Given the description of an element on the screen output the (x, y) to click on. 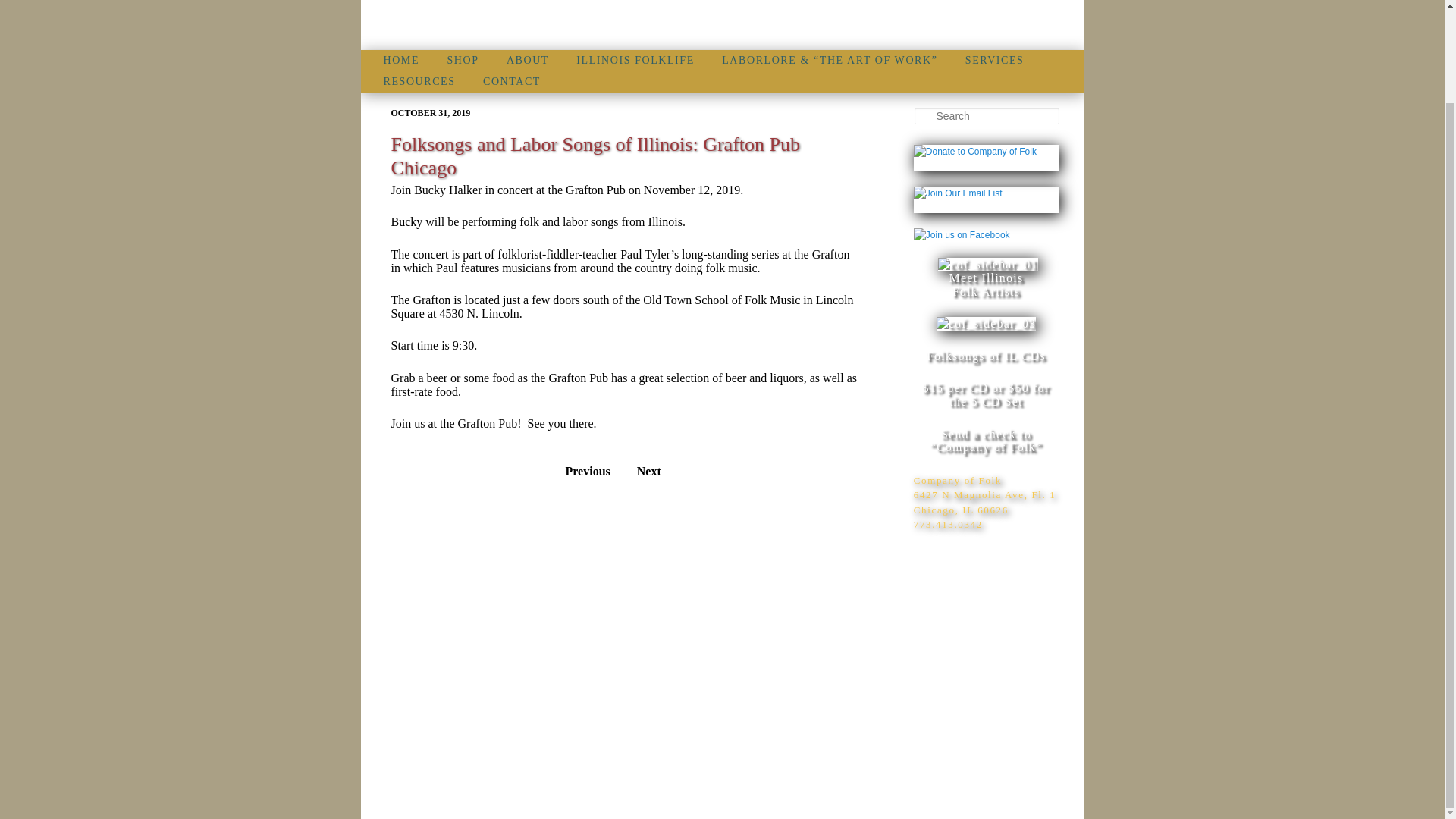
Join Our Email List (958, 193)
SHOP (462, 60)
ILLINOIS FOLKLIFE (634, 60)
SKIP TO PRIMARY CONTENT (472, 60)
Previous (588, 471)
Join us on Facebook (962, 235)
RESOURCES (418, 81)
Skip to primary content (472, 60)
Join Our Email List (958, 193)
Meet Illinois Folk Artists (986, 277)
